Given the description of an element on the screen output the (x, y) to click on. 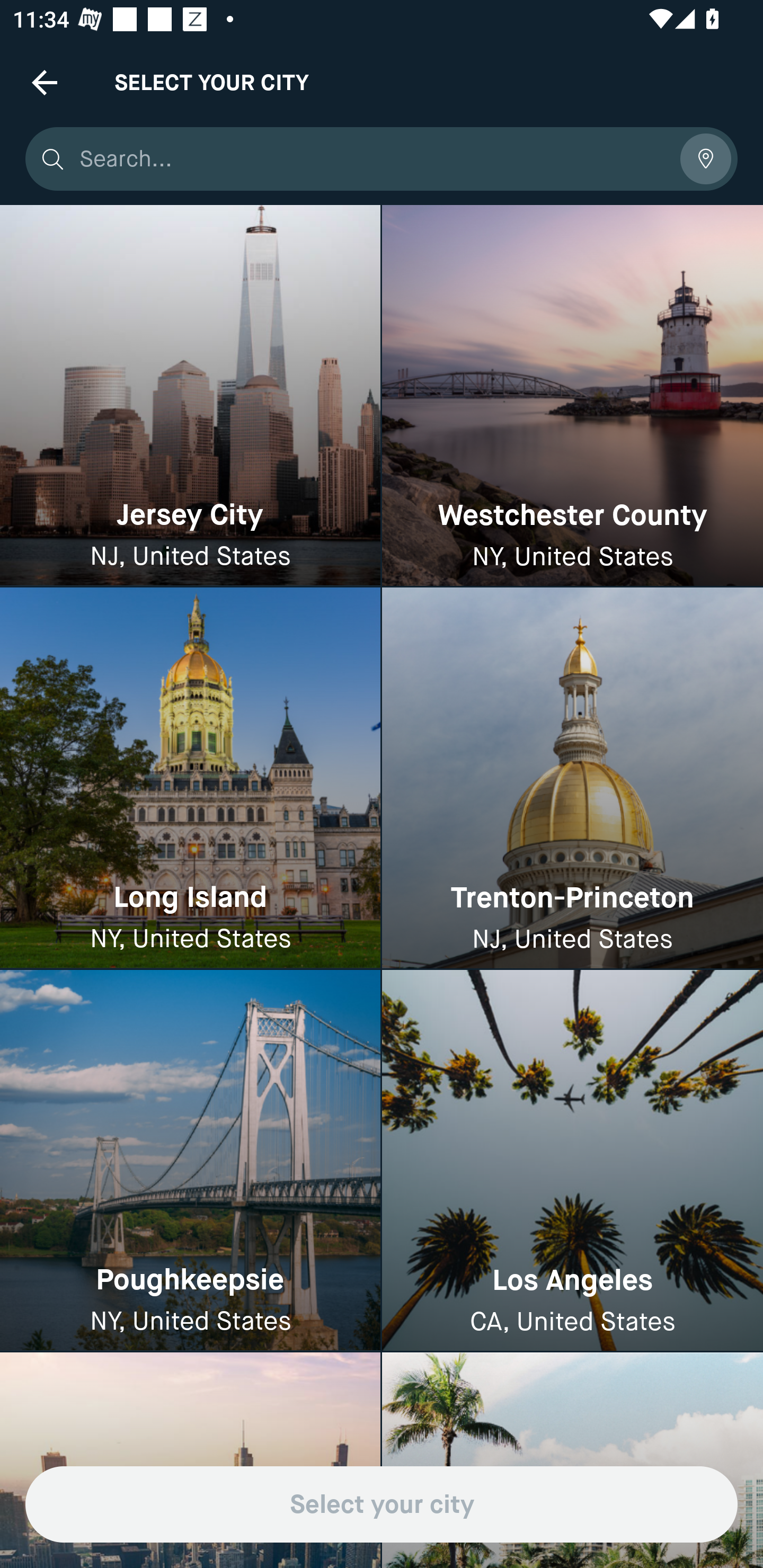
Navigate up (44, 82)
Search... (373, 159)
Jersey City NJ, United States (190, 395)
Westchester County NY, United States (572, 395)
Long Island NY, United States (190, 778)
Trenton-Princeton NJ, United States (572, 778)
Poughkeepsie NY, United States (190, 1160)
Los Angeles CA, United States (572, 1160)
Select your city (381, 1504)
